Given the description of an element on the screen output the (x, y) to click on. 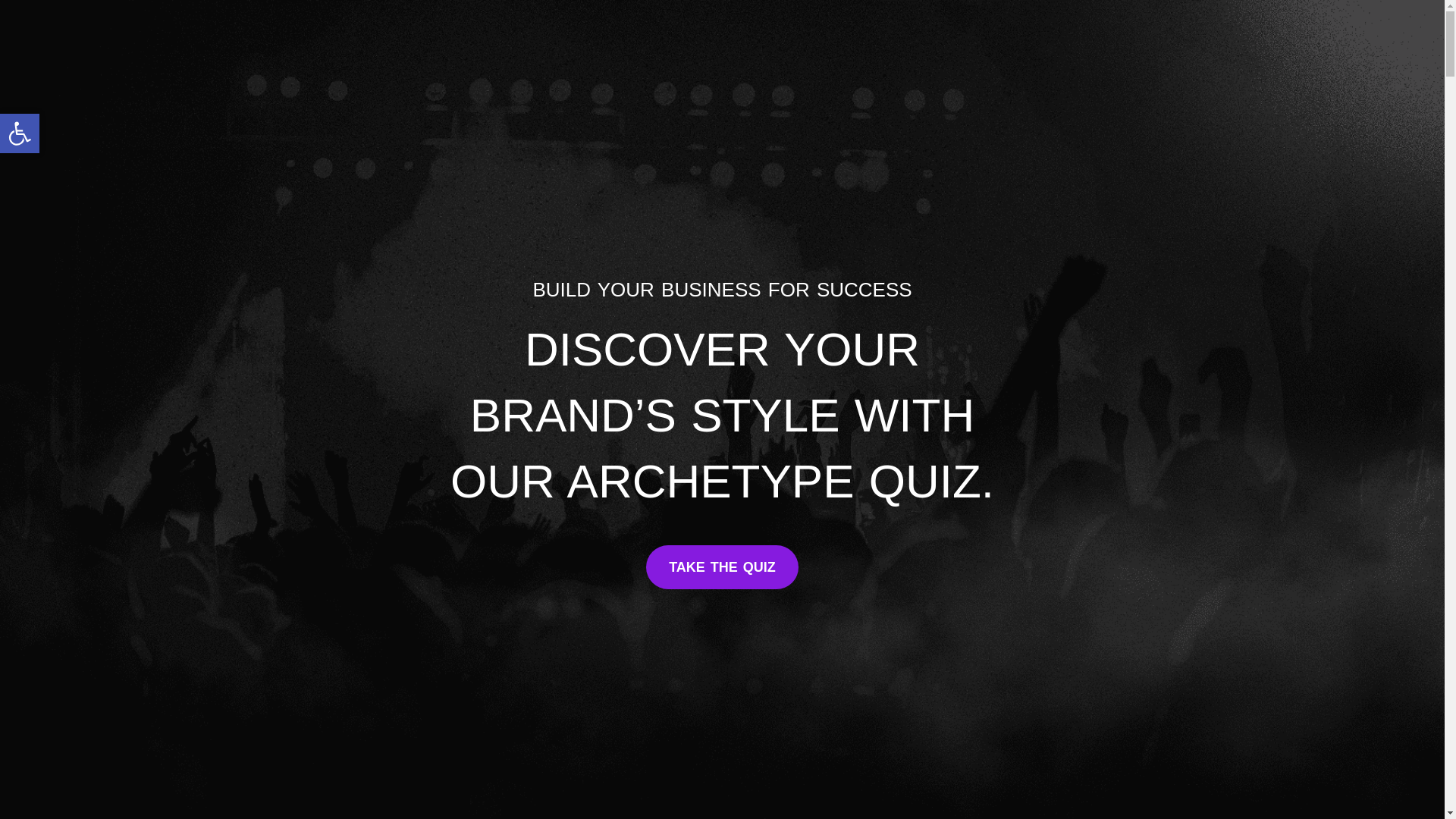
TAKE THE QUIZ (721, 566)
Accessibility Tools (19, 133)
Accessibility Tools (19, 133)
